Given the description of an element on the screen output the (x, y) to click on. 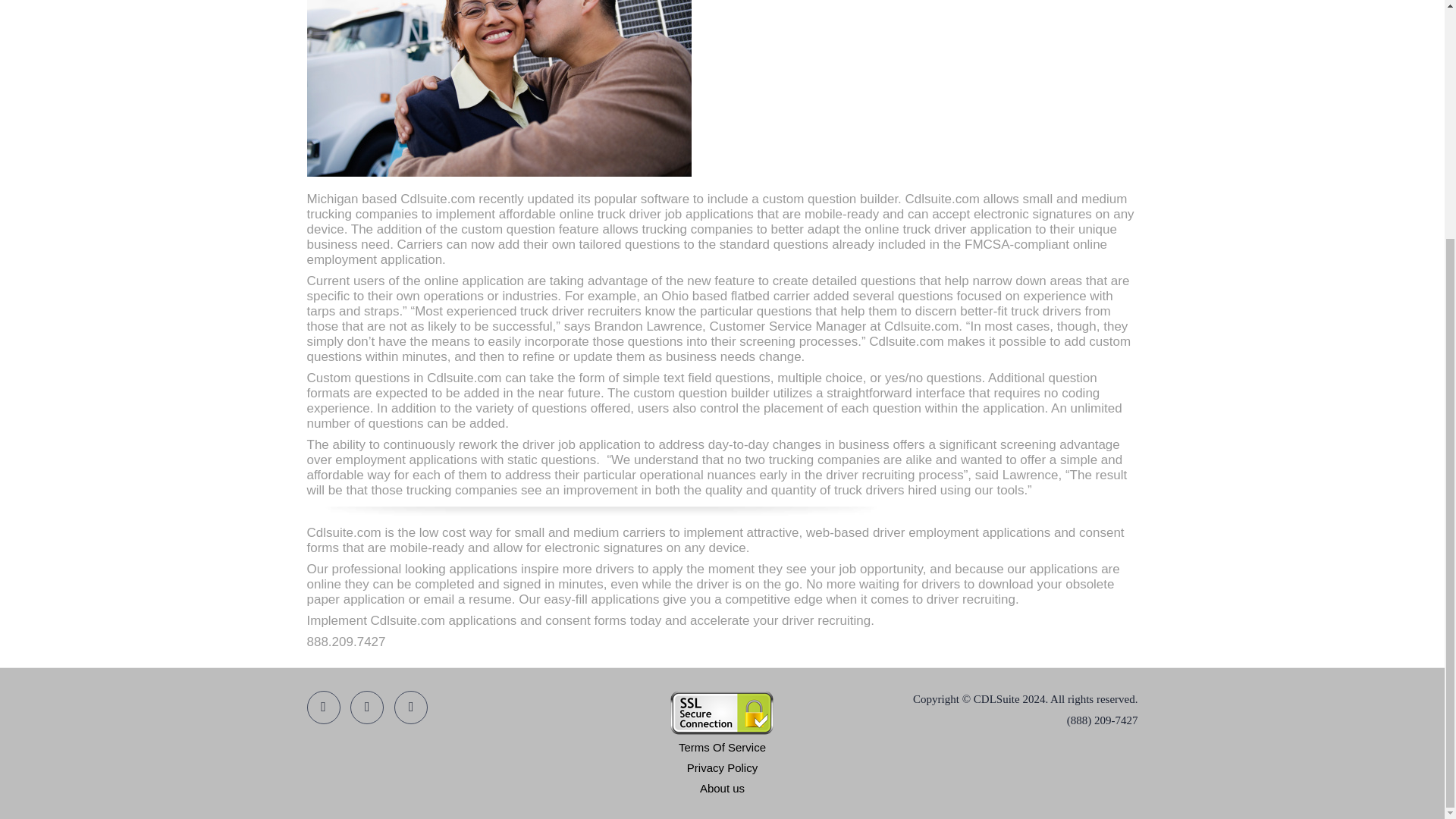
About us (722, 788)
Privacy Policy (722, 767)
Cdlsuite.com (408, 620)
Cdlsuite.com (342, 532)
SSL Certificate (721, 712)
Terms Of Service (721, 747)
